Given the description of an element on the screen output the (x, y) to click on. 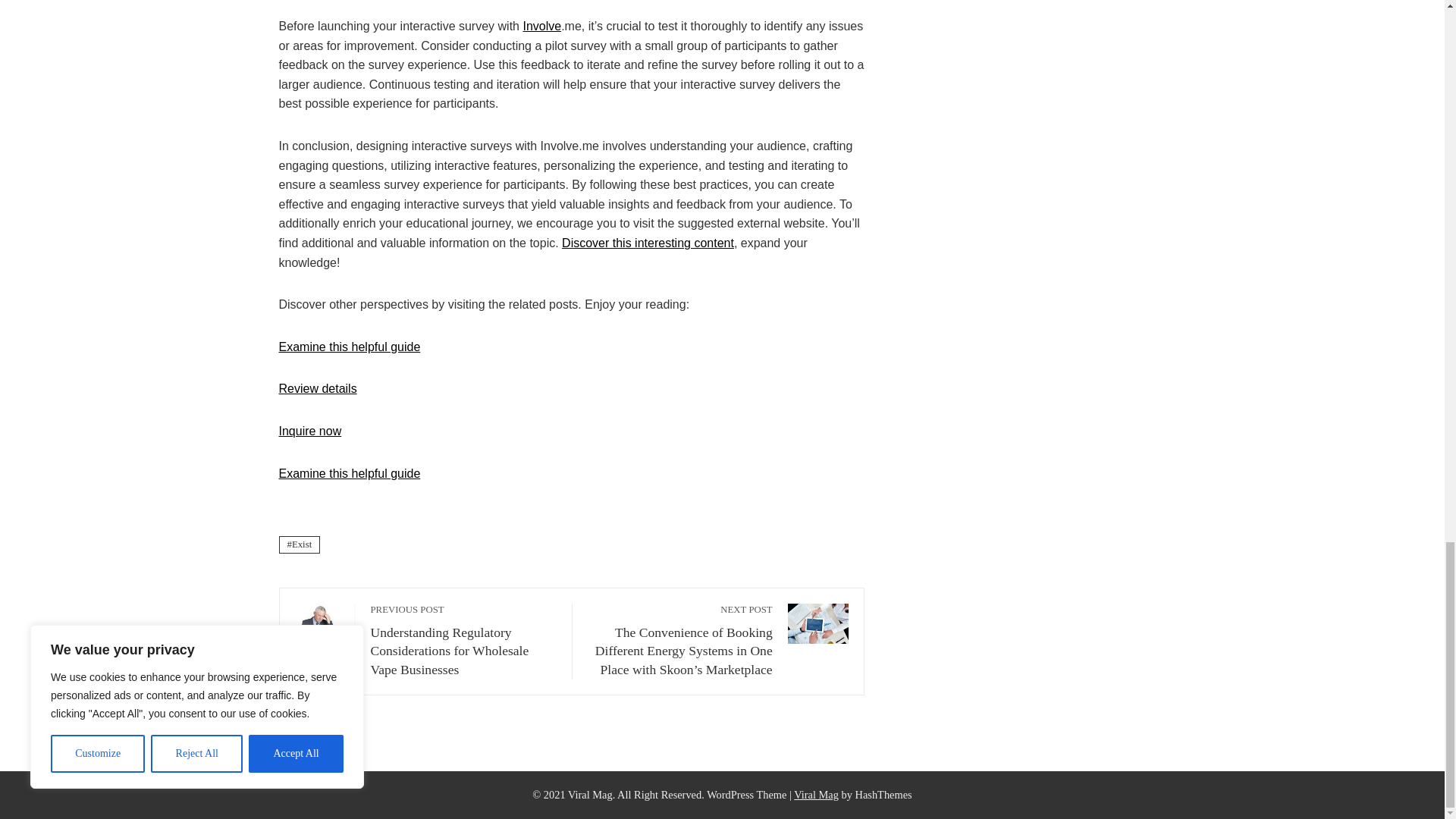
Exist (299, 544)
Download Viral News (815, 794)
Inquire now (310, 431)
Discover this interesting content (647, 242)
Review details (317, 388)
Involve (541, 25)
Examine this helpful guide (349, 346)
Examine this helpful guide (349, 472)
